Given the description of an element on the screen output the (x, y) to click on. 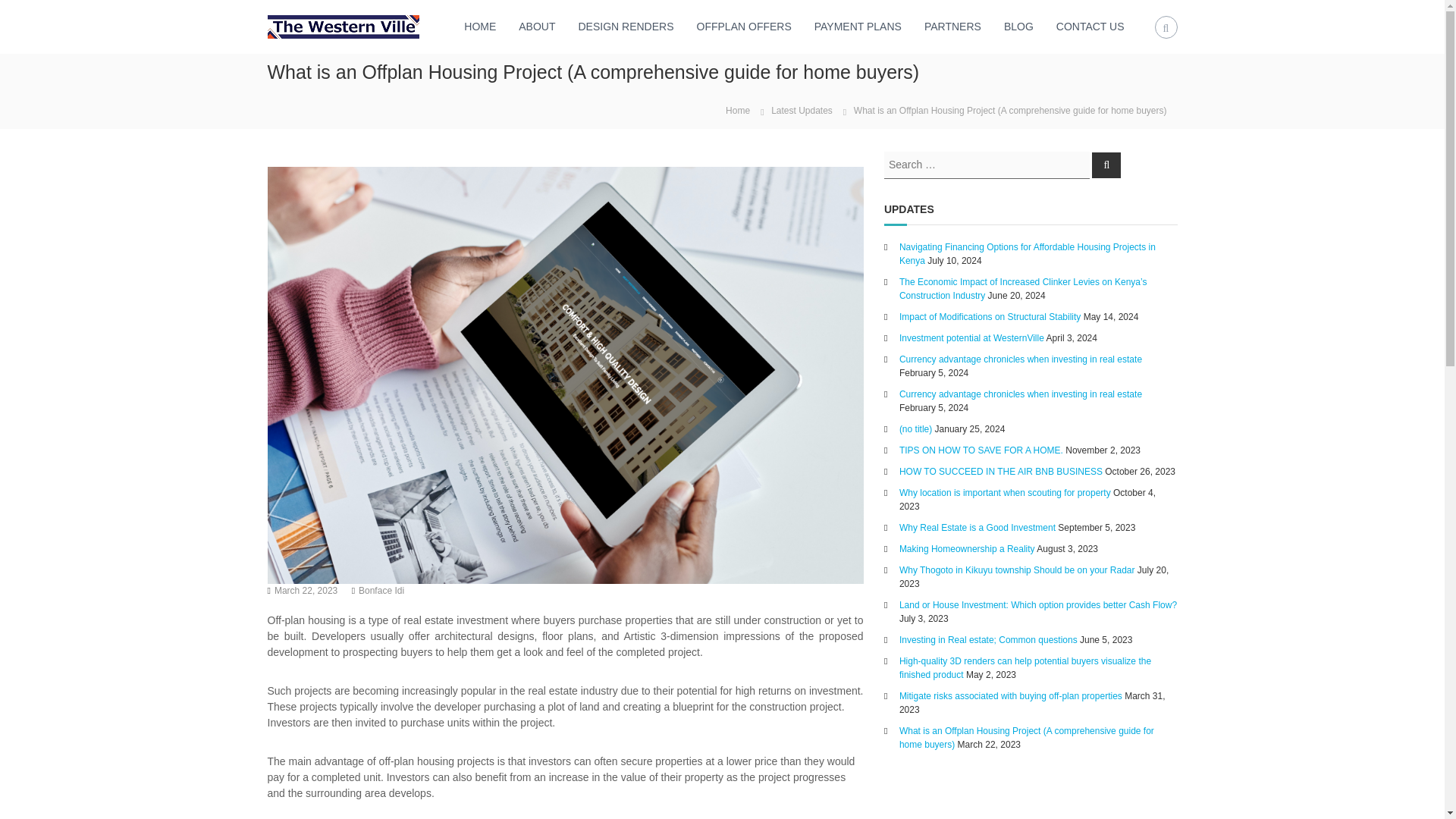
PARTNERS (952, 26)
Mitigate risks associated with buying off-plan properties (1010, 695)
Why Real Estate is a Good Investment (977, 526)
Currency advantage chronicles when investing in real estate (1020, 393)
Investment potential at WesternVille (971, 337)
Search (1106, 164)
Latest Updates (801, 109)
Impact of Modifications on Structural Stability (989, 316)
DESIGN RENDERS (625, 26)
